Given the description of an element on the screen output the (x, y) to click on. 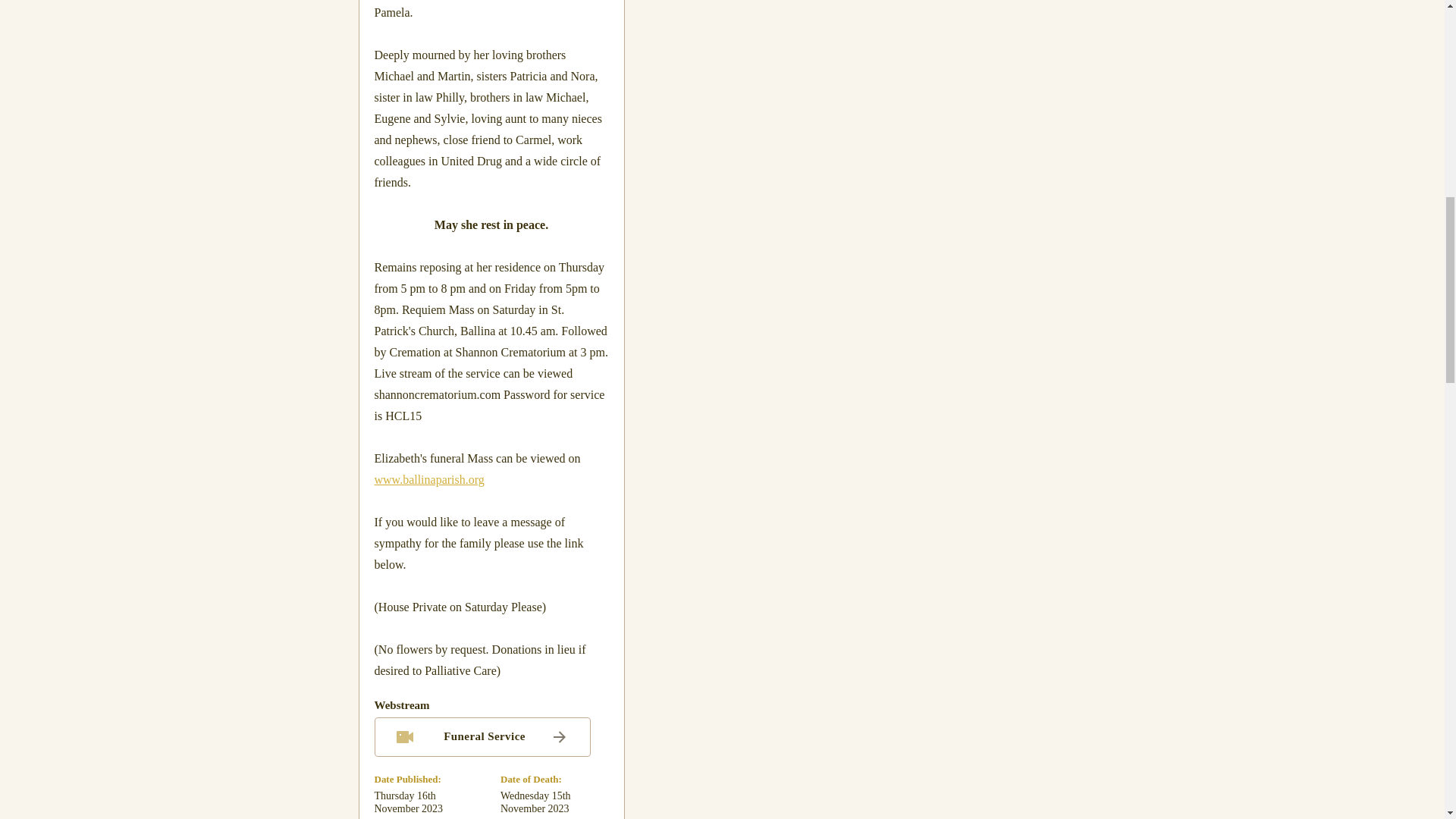
www.ballinaparish.org (429, 479)
Funeral Service (482, 736)
